Given the description of an element on the screen output the (x, y) to click on. 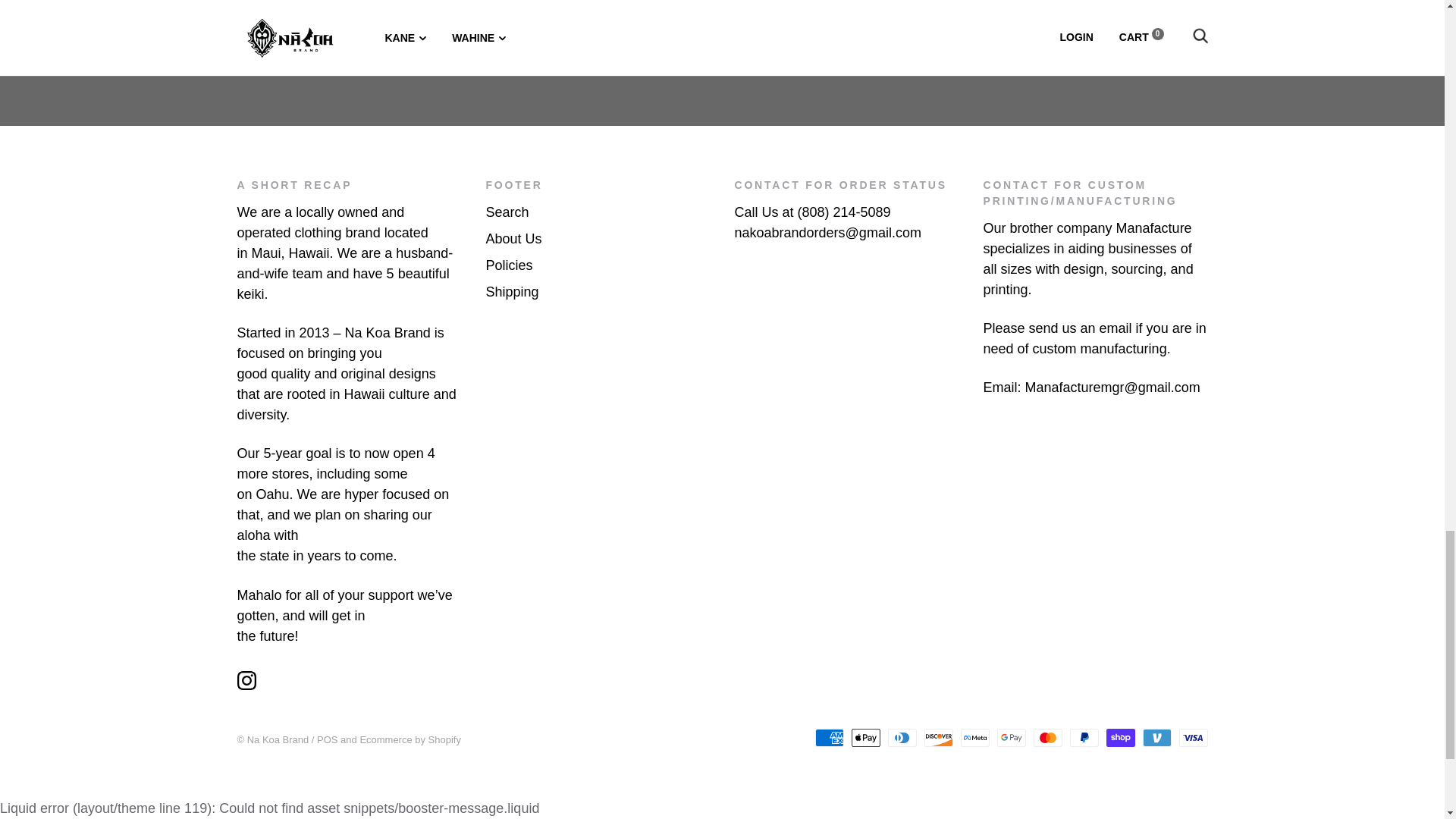
Meta Pay (973, 737)
PayPal (1082, 737)
Discover (937, 737)
Instagram (245, 680)
Google Pay (1010, 737)
Mastercard (1046, 737)
Diners Club (900, 737)
American Express (828, 737)
Apple Pay (864, 737)
Subscribe (1071, 23)
